Given the description of an element on the screen output the (x, y) to click on. 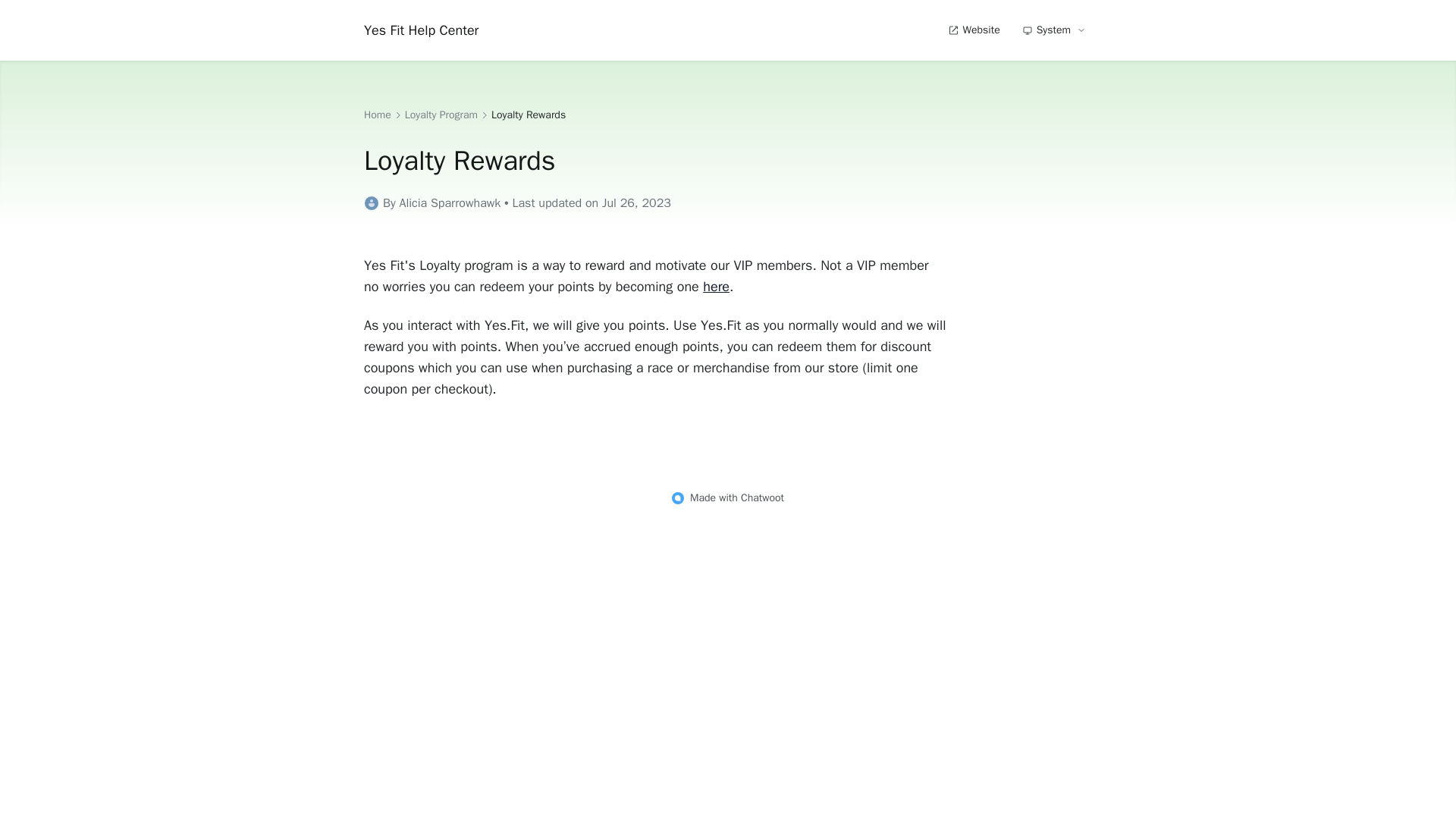
here (716, 286)
Chatwoot (762, 497)
System (1055, 29)
Yes Fit Help Center (421, 30)
Loyalty Program (440, 115)
Home (377, 115)
Website (972, 29)
